Given the description of an element on the screen output the (x, y) to click on. 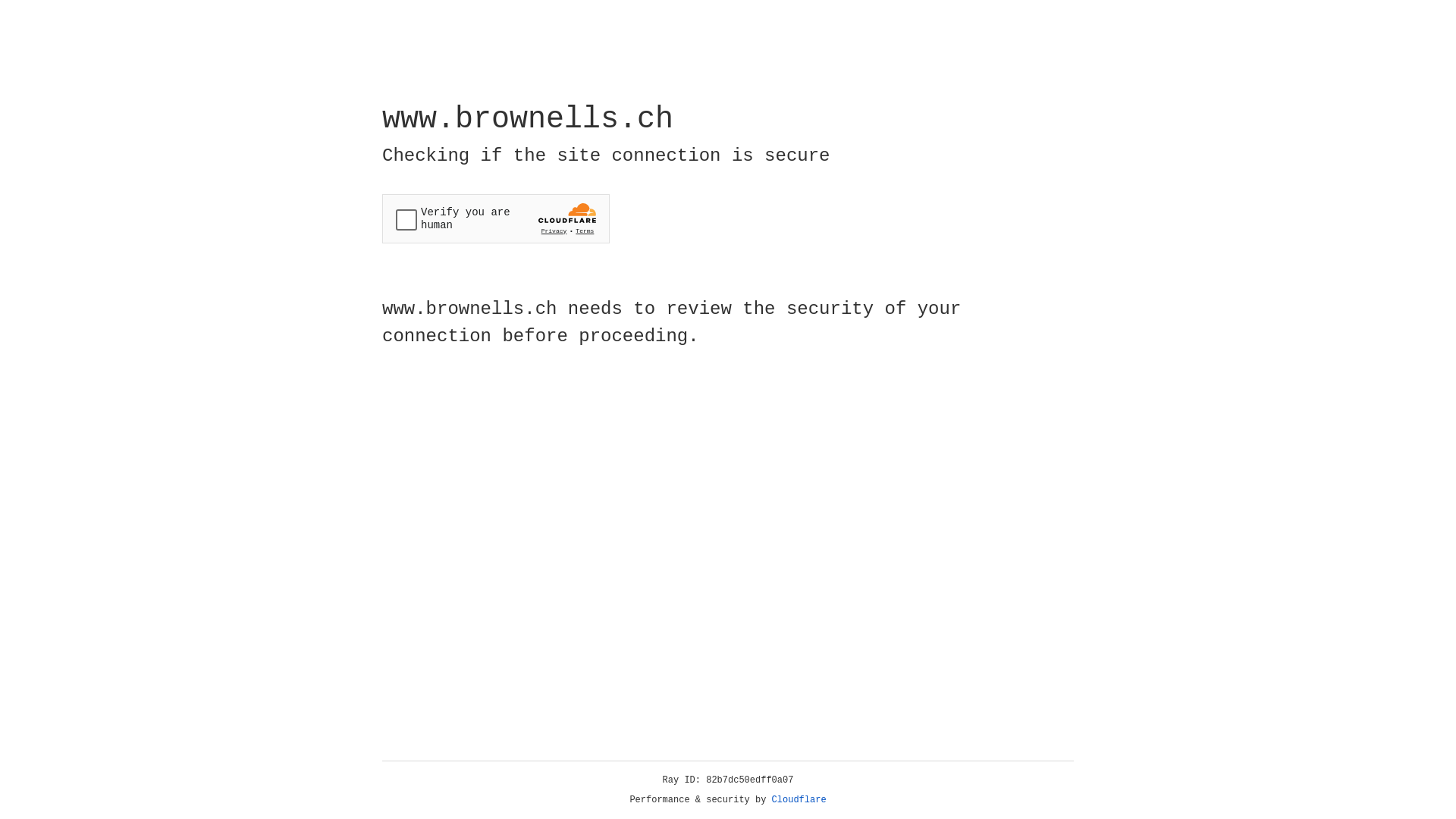
Cloudflare Element type: text (798, 799)
Widget containing a Cloudflare security challenge Element type: hover (495, 218)
